Given the description of an element on the screen output the (x, y) to click on. 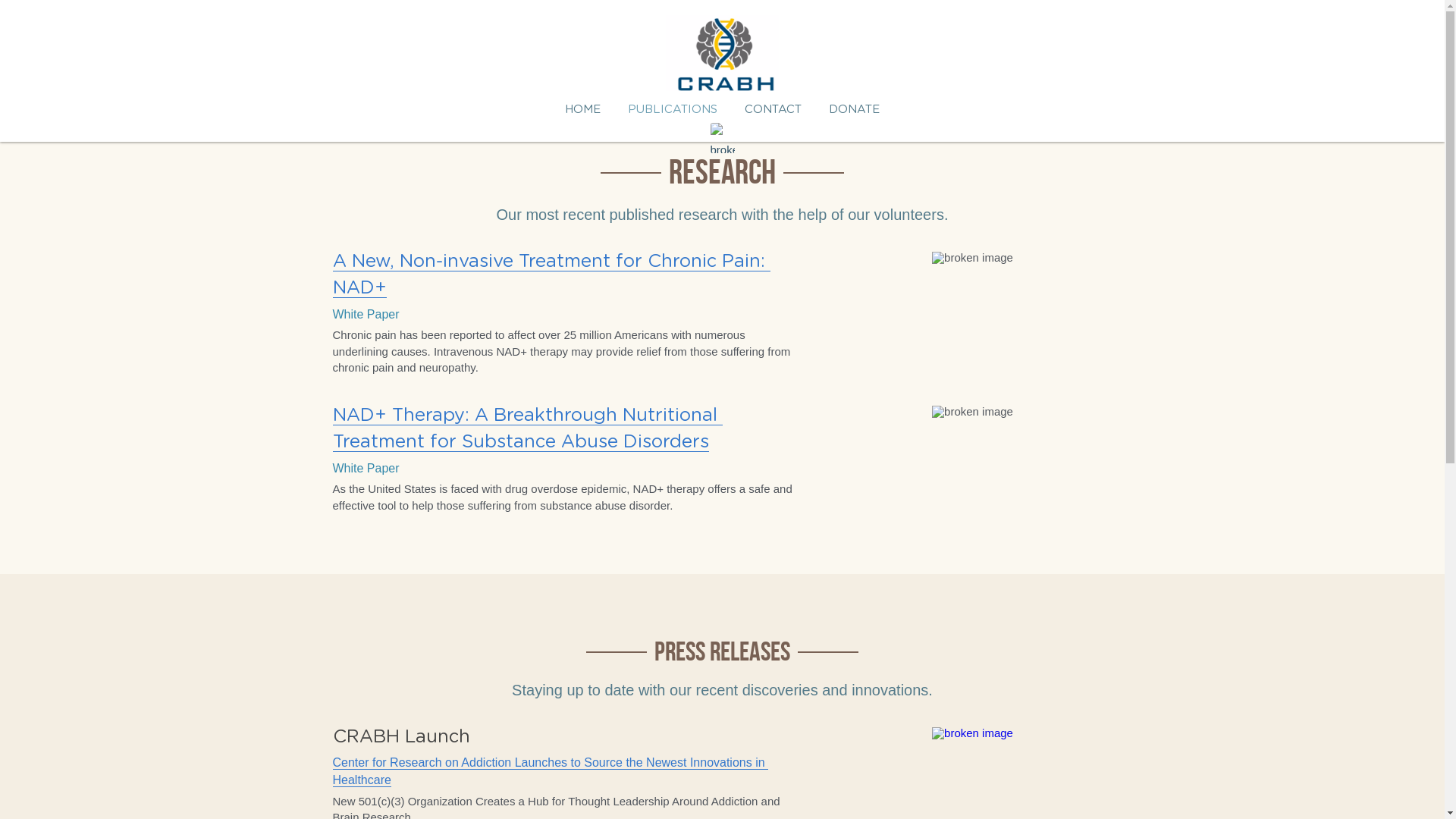
CONTACT Element type: text (772, 109)
PUBLICATIONS Element type: text (672, 109)
A New, Non-invasive Treatment for Chronic Pain: NAD+ Element type: text (550, 275)
HOME Element type: text (582, 109)
DONATE Element type: text (853, 109)
